Given the description of an element on the screen output the (x, y) to click on. 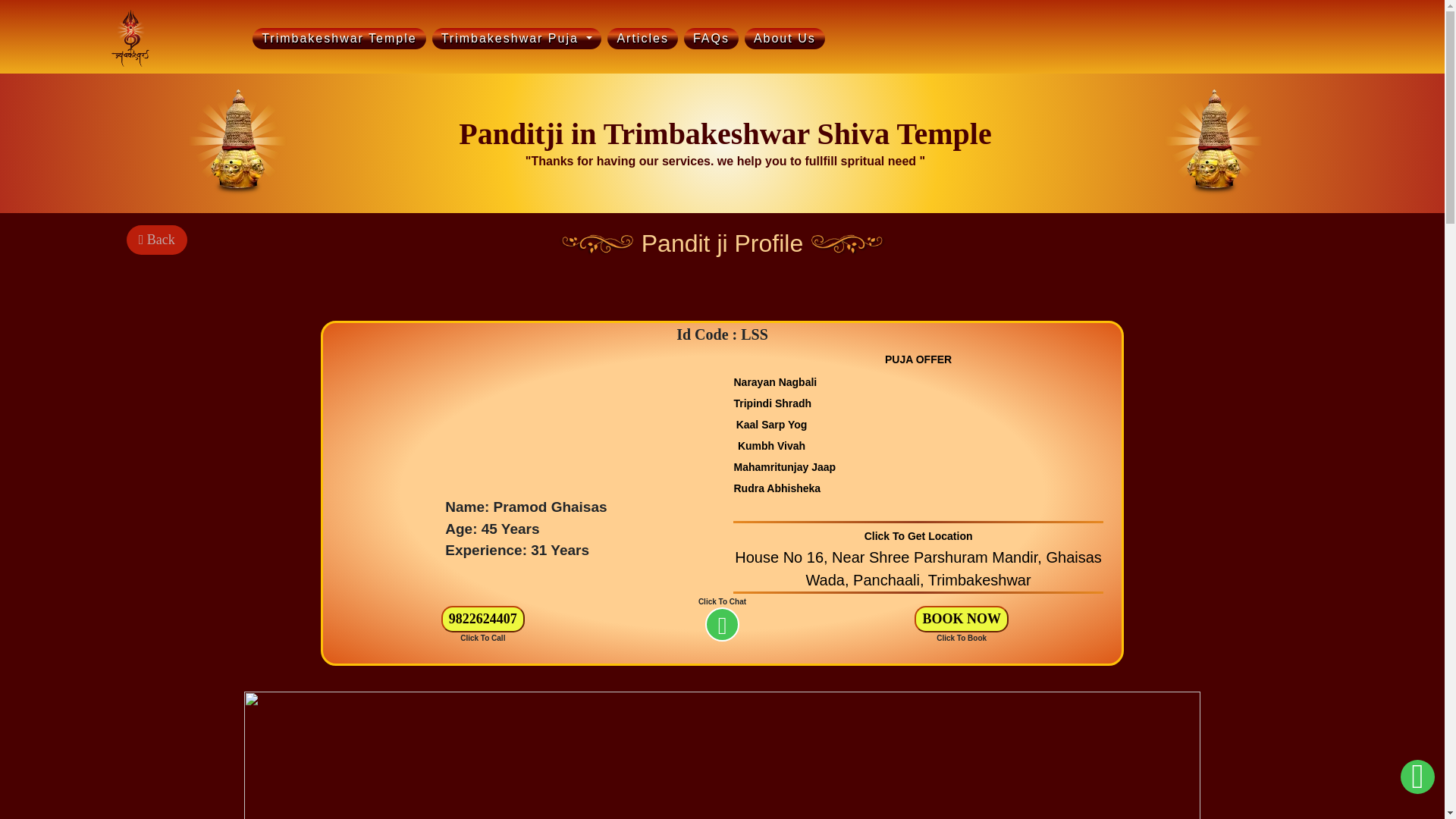
About Us (784, 38)
Booking (961, 618)
Whatsapp (721, 624)
BOOK NOW (961, 618)
Chat with Guruji (1417, 780)
Trimbakeshwar Puja (517, 38)
9822624407 (482, 618)
Back (153, 238)
Articles (642, 38)
